Given the description of an element on the screen output the (x, y) to click on. 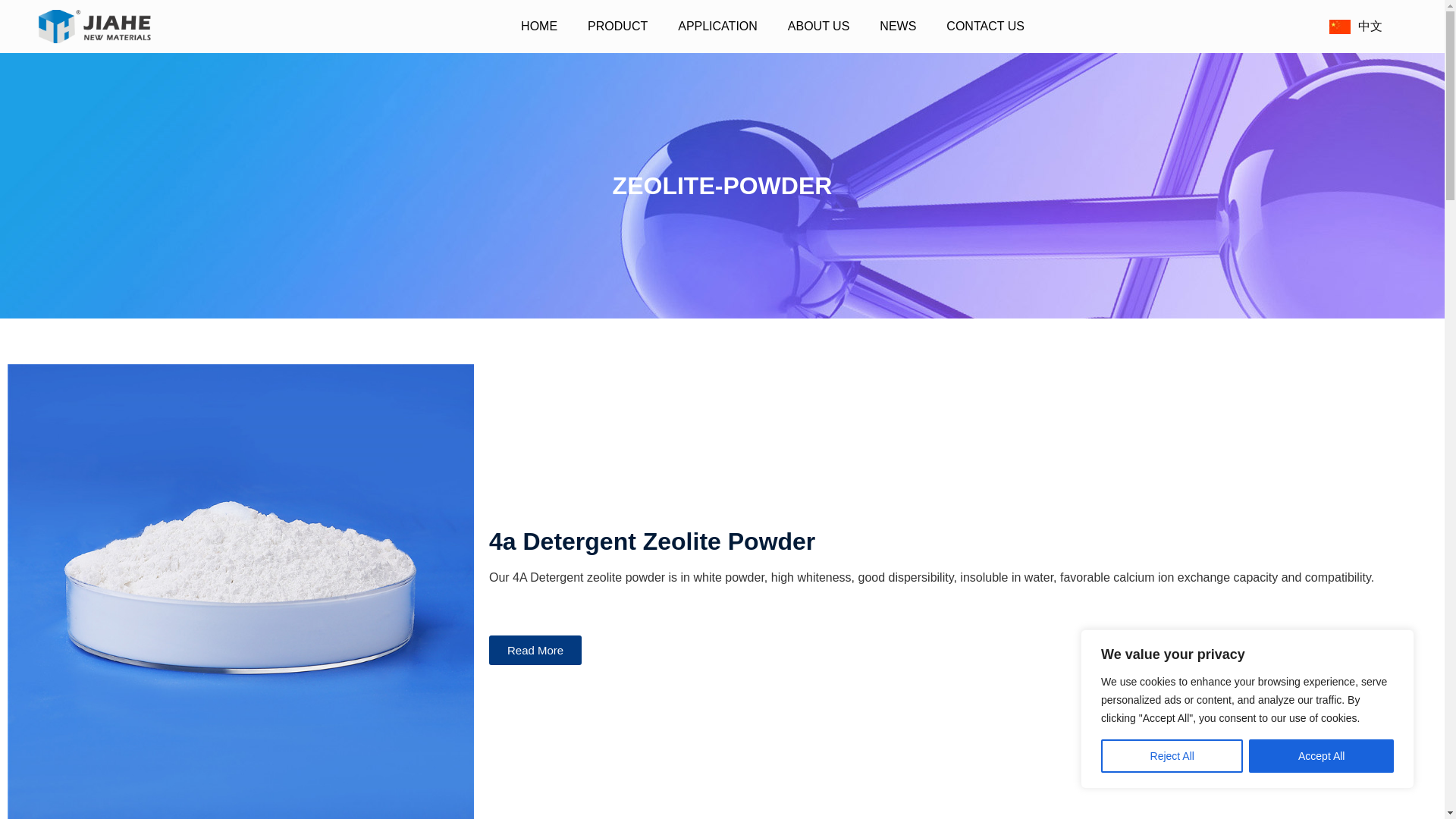
APPLICATION (717, 26)
Reject All (1171, 756)
PRODUCT (617, 26)
NEWS (897, 26)
ABOUT US (818, 26)
Accept All (1321, 756)
HOME (538, 26)
